Given the description of an element on the screen output the (x, y) to click on. 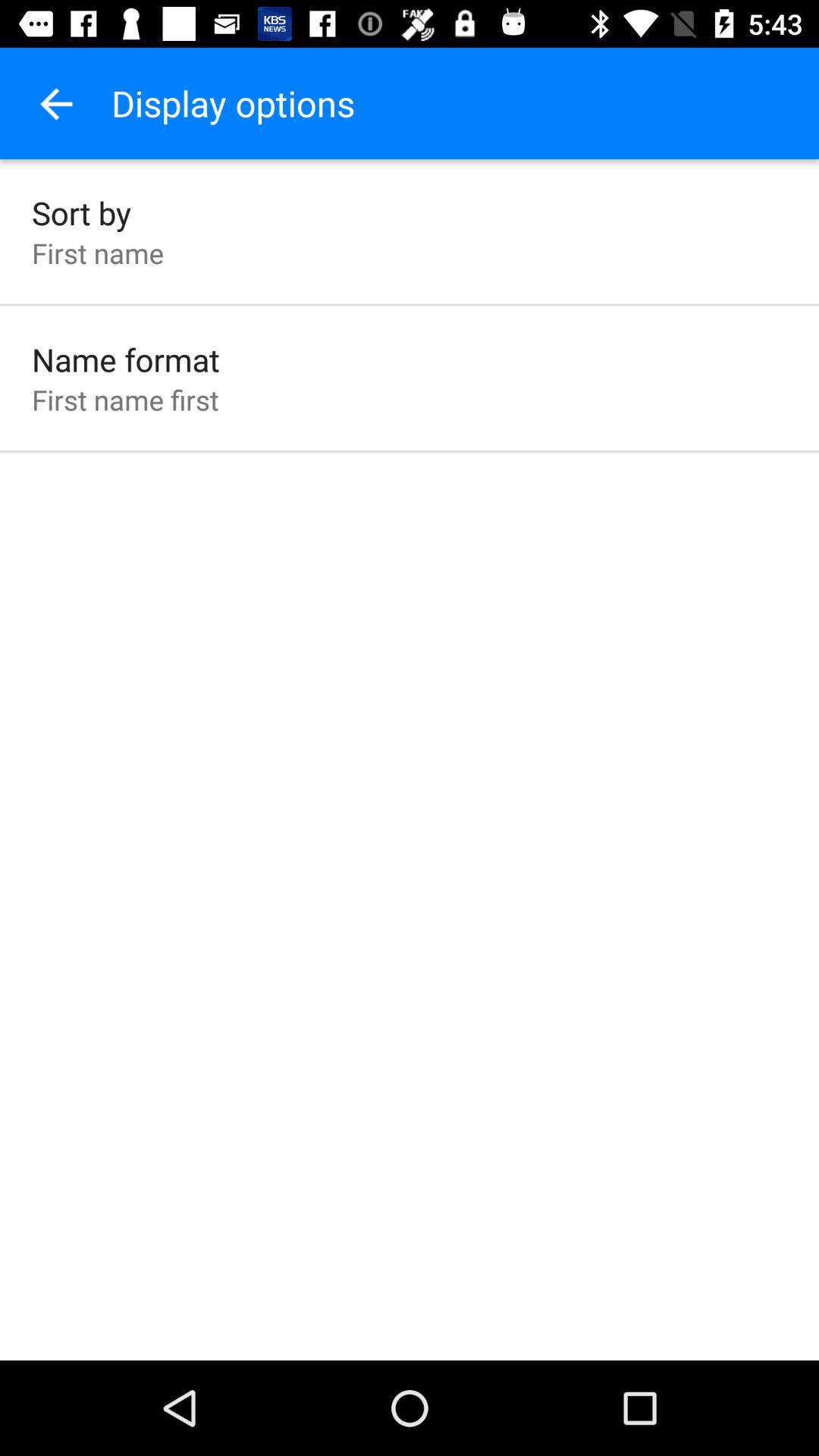
turn on name format icon (125, 359)
